Given the description of an element on the screen output the (x, y) to click on. 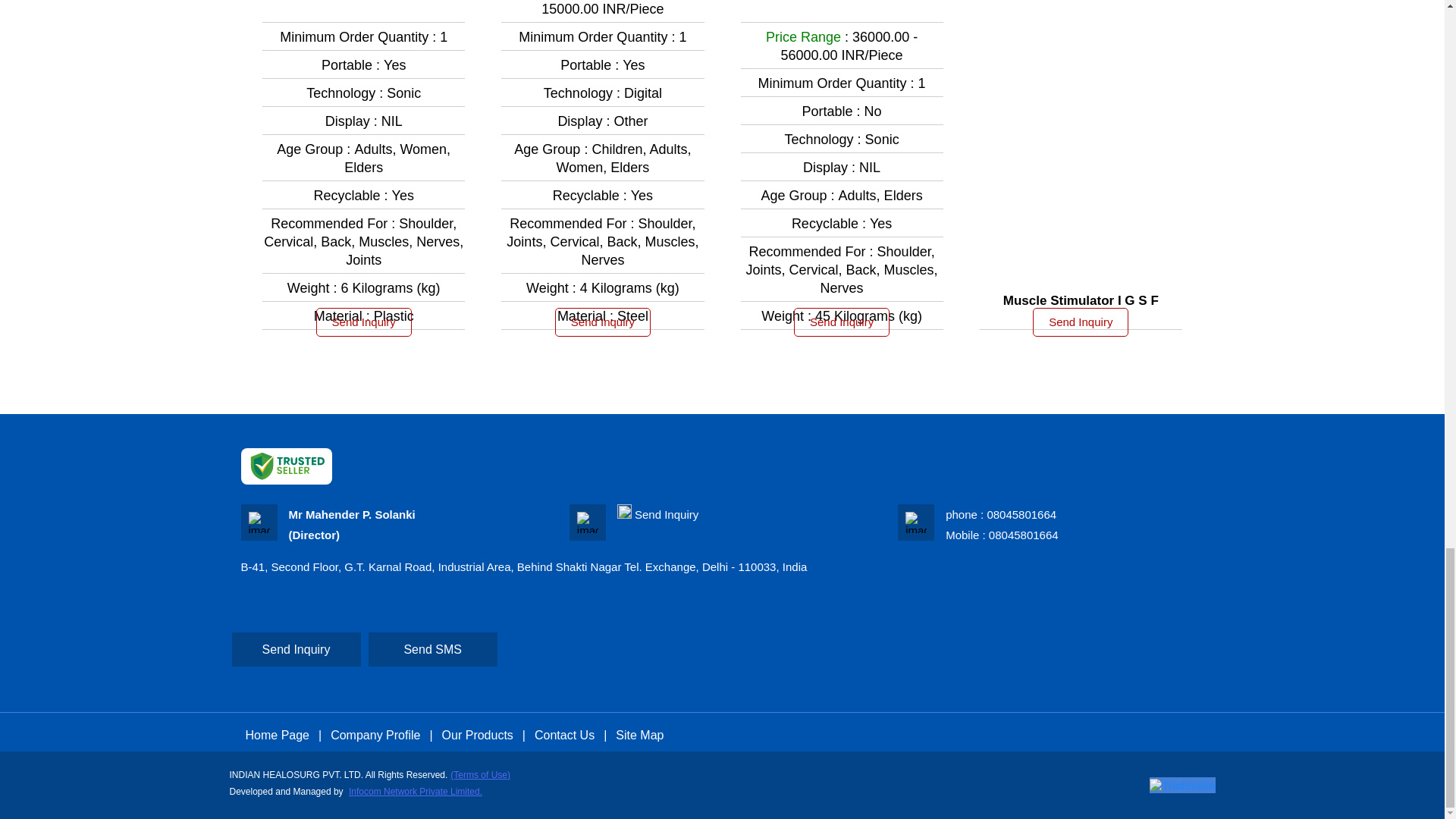
Send Inquiry (363, 321)
Shortwave Diathermy 500 Watts (841, 1)
Send Inquiry (841, 321)
Send Inquiry (1080, 321)
Send Inquiry (666, 513)
Accepts only Domestic Inquiries (624, 511)
Muscle Stimulator I G S F (1080, 300)
Send Inquiry (602, 321)
